Given the description of an element on the screen output the (x, y) to click on. 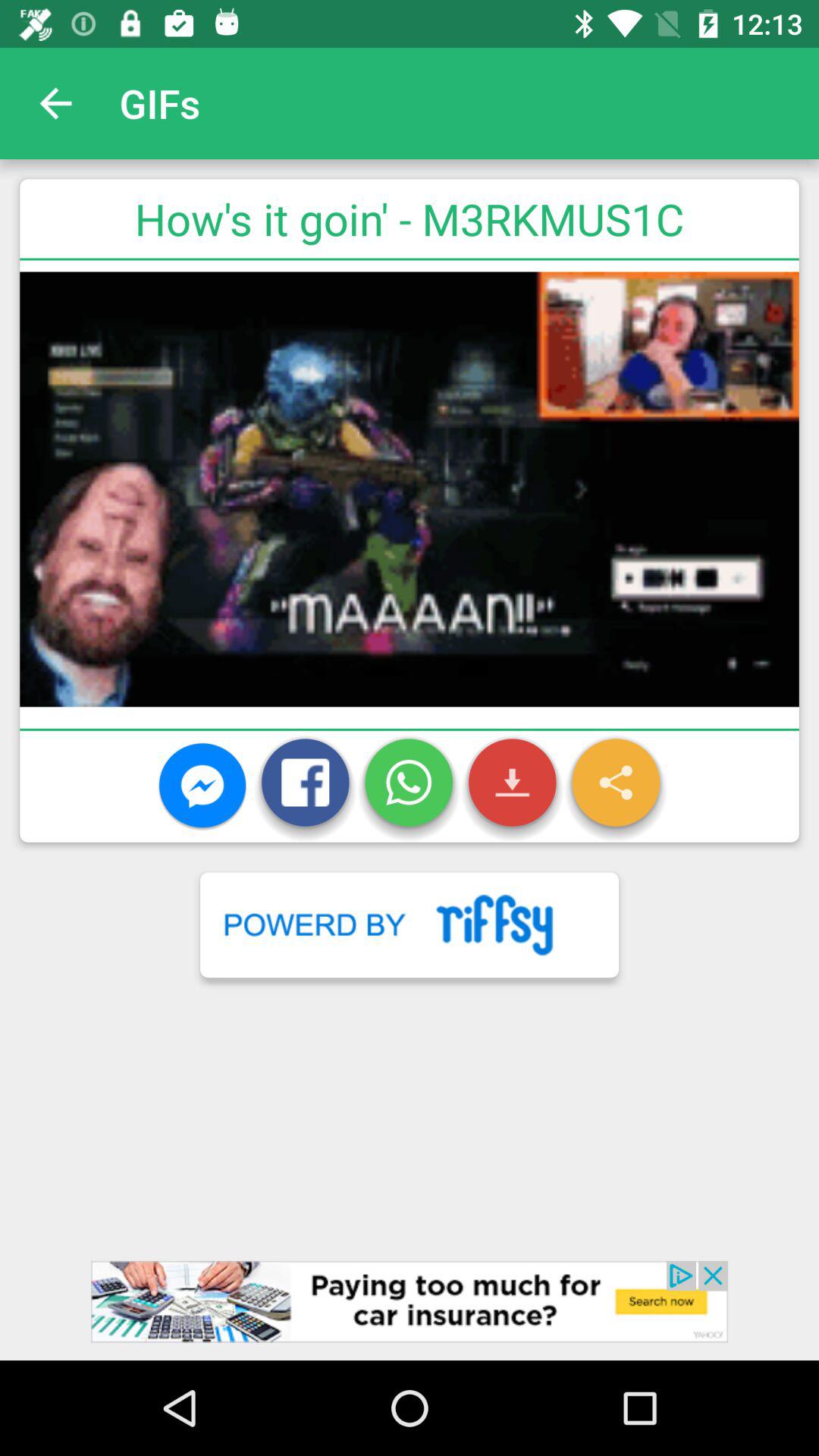
advertisement option (409, 1310)
